Given the description of an element on the screen output the (x, y) to click on. 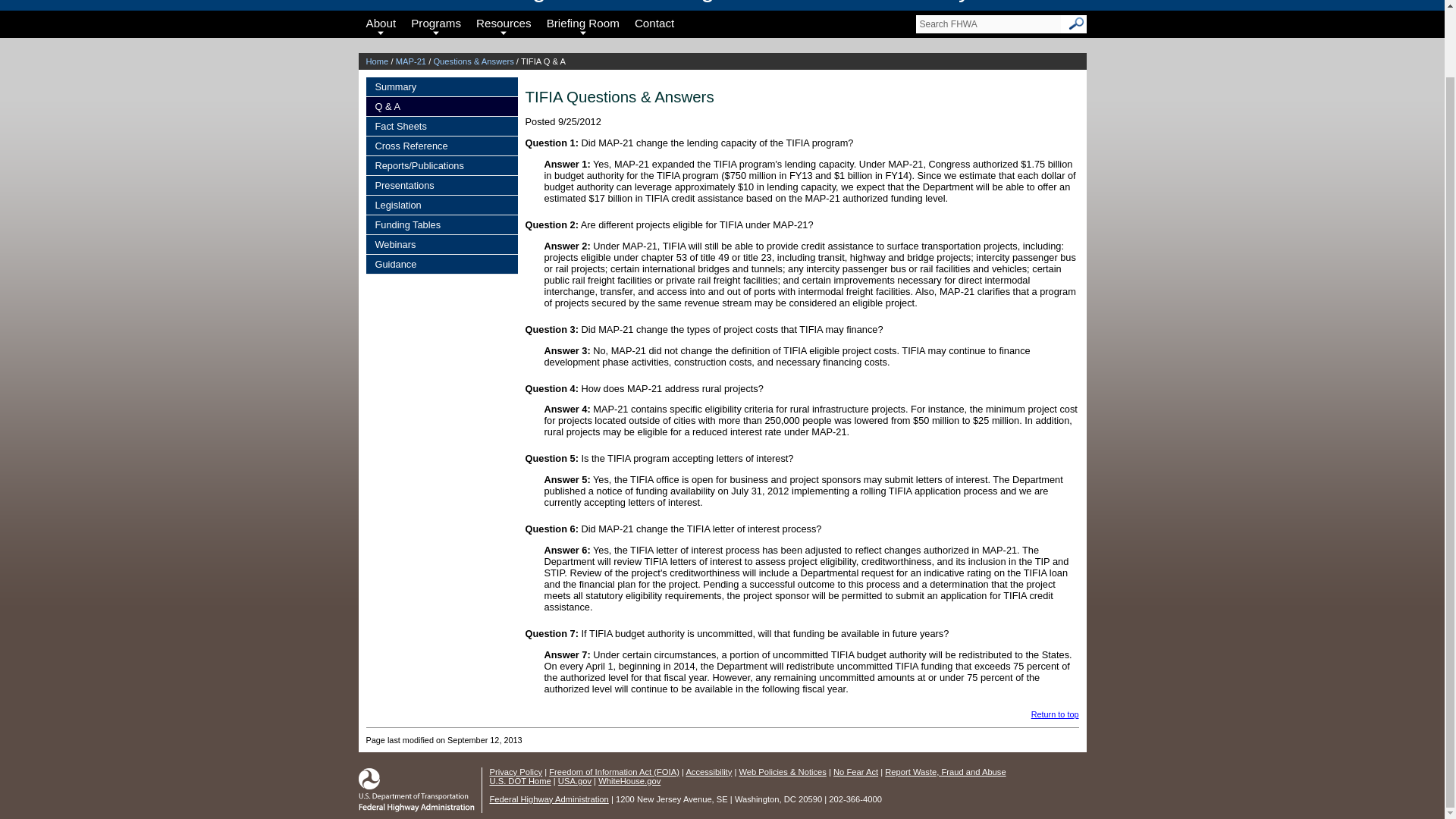
Search (1076, 23)
Search FHWA (988, 24)
Search FHWA (988, 24)
